Given the description of an element on the screen output the (x, y) to click on. 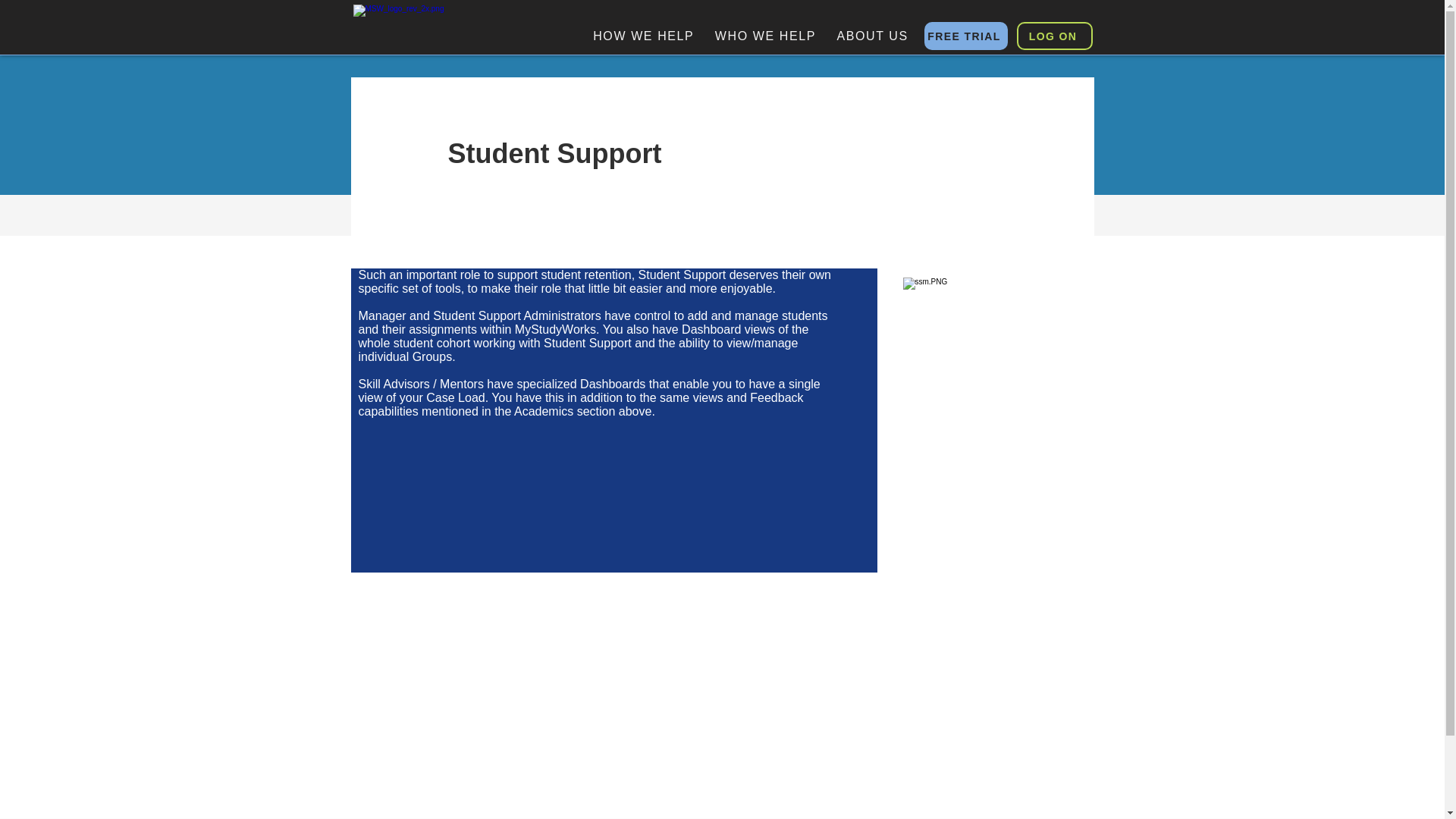
LOG ON (1054, 35)
ABOUT US (872, 36)
FREE TRIAL (965, 35)
